Given the description of an element on the screen output the (x, y) to click on. 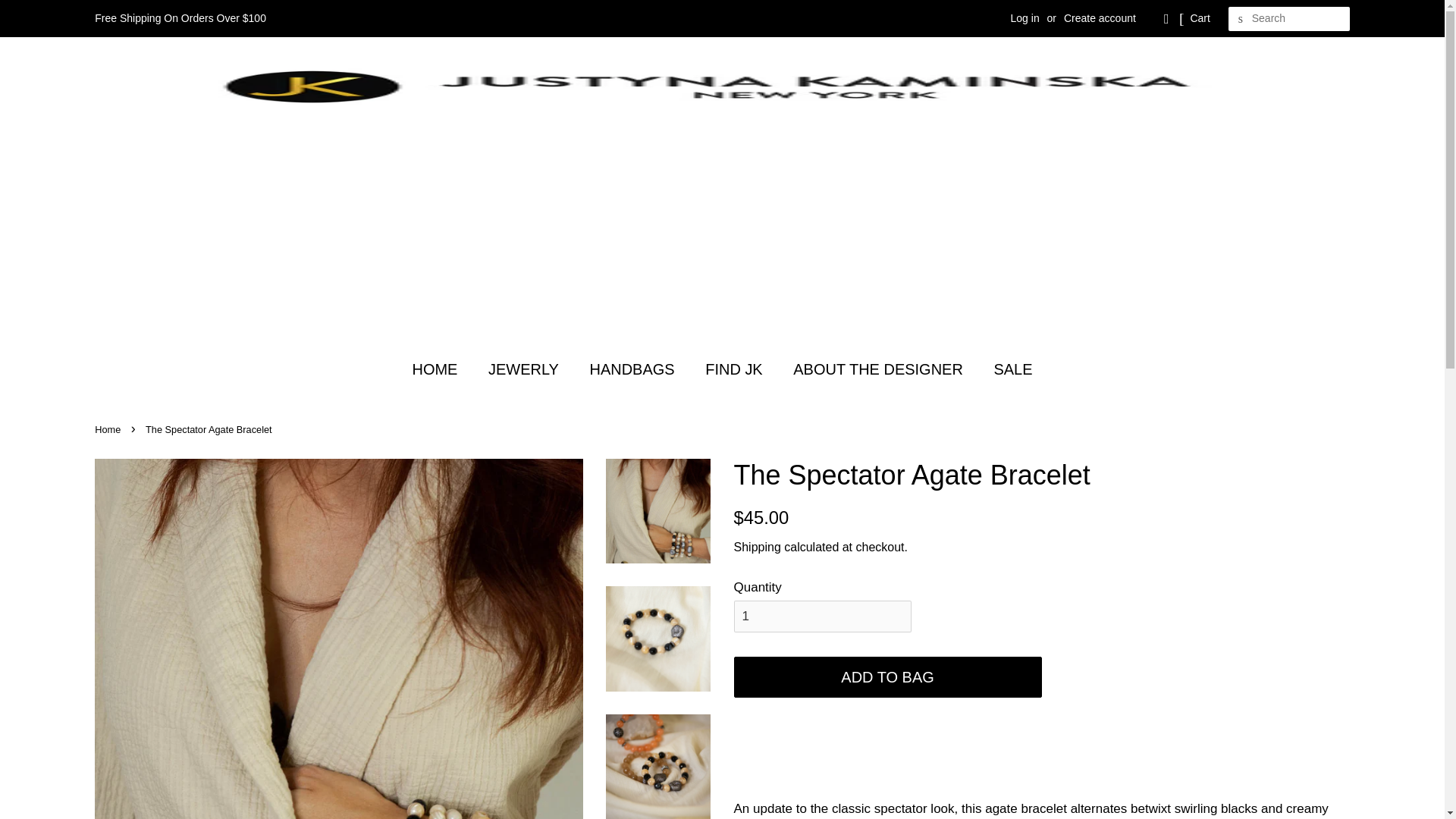
Cart (1199, 18)
SEARCH (1240, 18)
1 (822, 616)
Home (108, 429)
JEWERLY (525, 369)
FIND JK (735, 369)
Log in (1024, 18)
SALE (1006, 369)
Shipping (756, 546)
HOME (441, 369)
Create account (1099, 18)
HANDBAGS (633, 369)
ADD TO BAG (887, 676)
Back to the frontpage (108, 429)
ABOUT THE DESIGNER (879, 369)
